Given the description of an element on the screen output the (x, y) to click on. 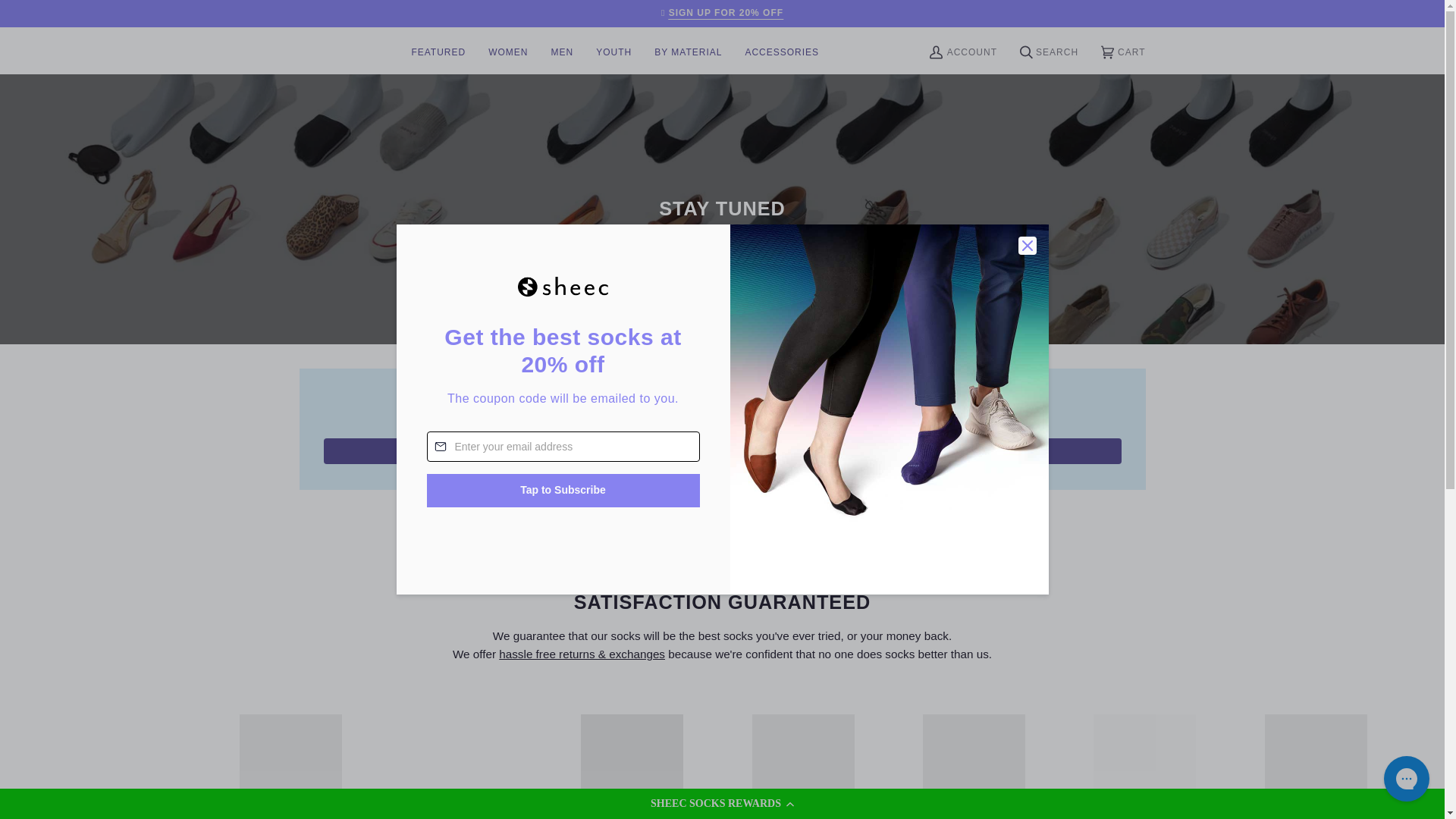
WOMEN (507, 50)
MEN (561, 50)
Gorgias live chat messenger (1406, 778)
FEATURED (437, 50)
